Given the description of an element on the screen output the (x, y) to click on. 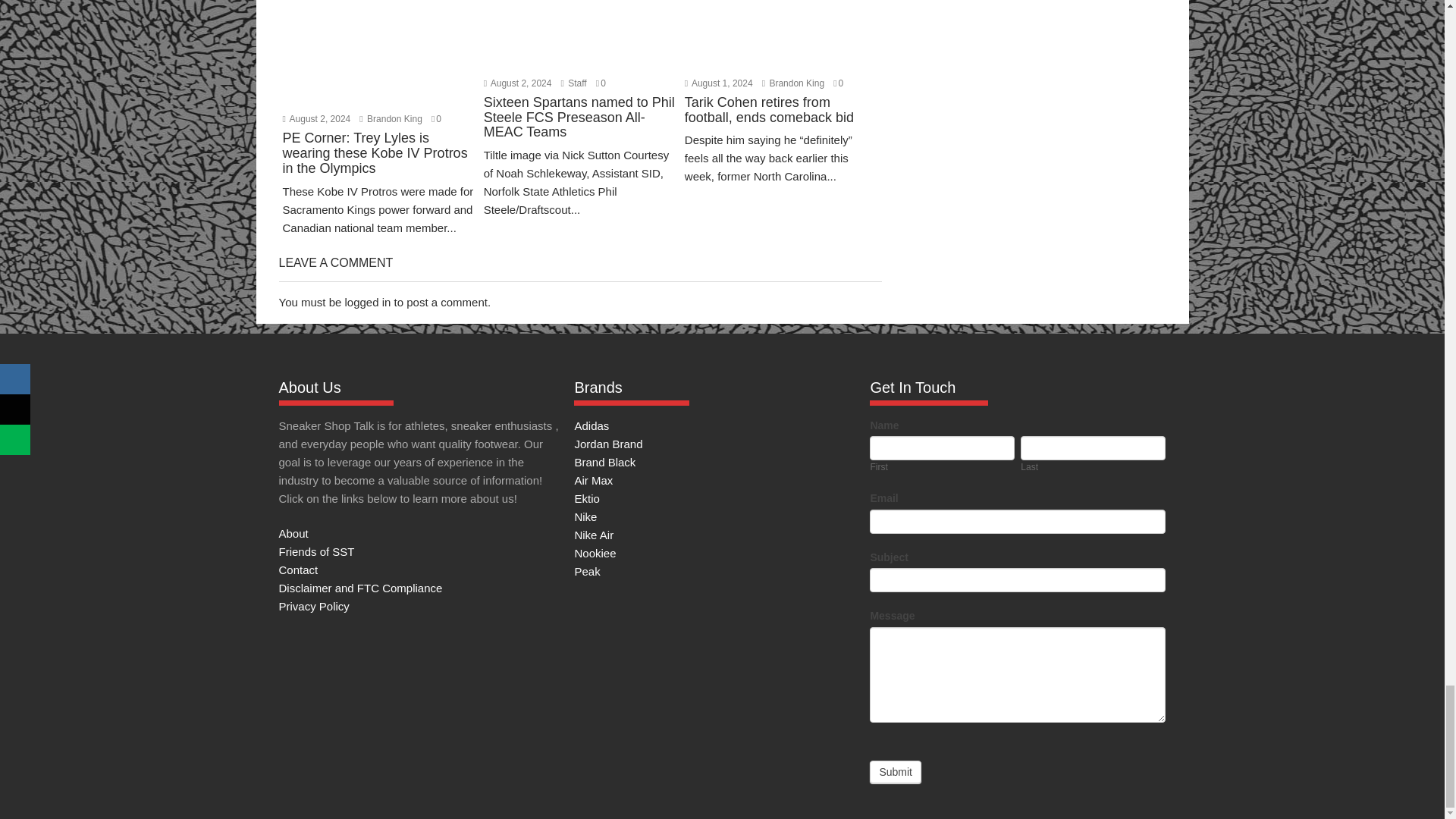
Brandon King (390, 118)
Brandon King (792, 82)
Staff (573, 82)
